Given the description of an element on the screen output the (x, y) to click on. 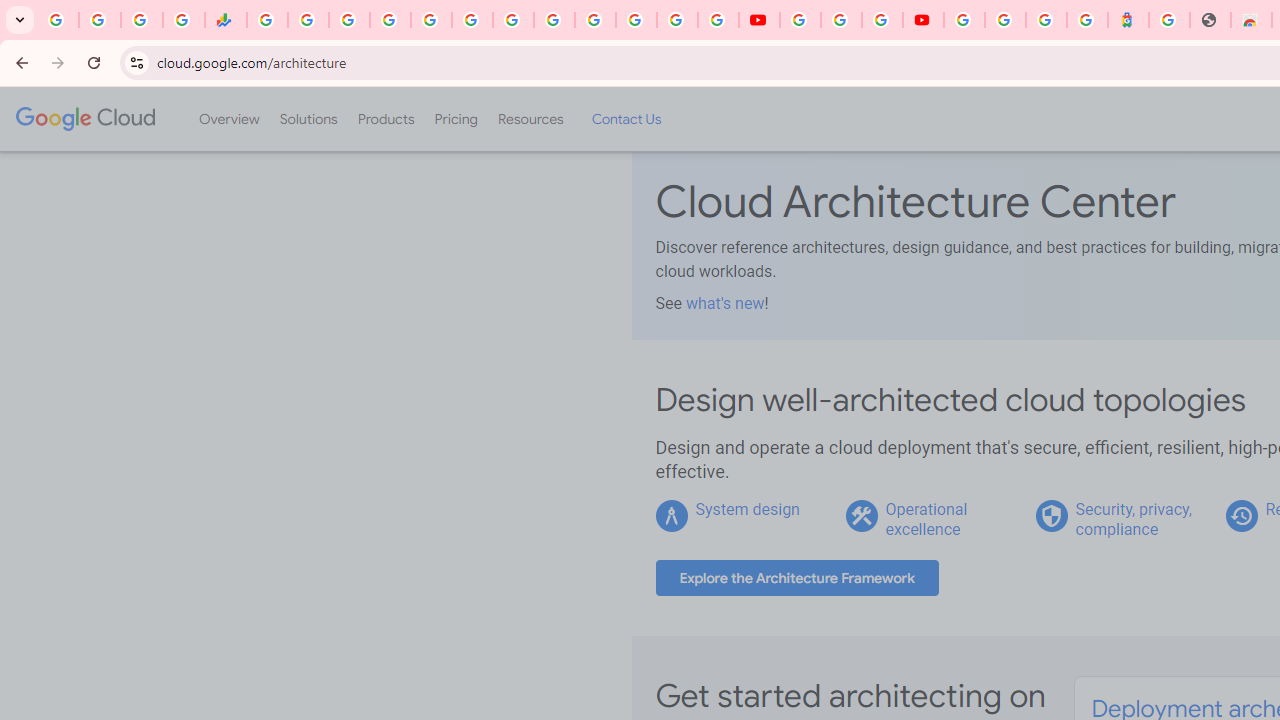
YouTube (799, 20)
Google Account Help (840, 20)
Sign in - Google Accounts (1005, 20)
